Given the description of an element on the screen output the (x, y) to click on. 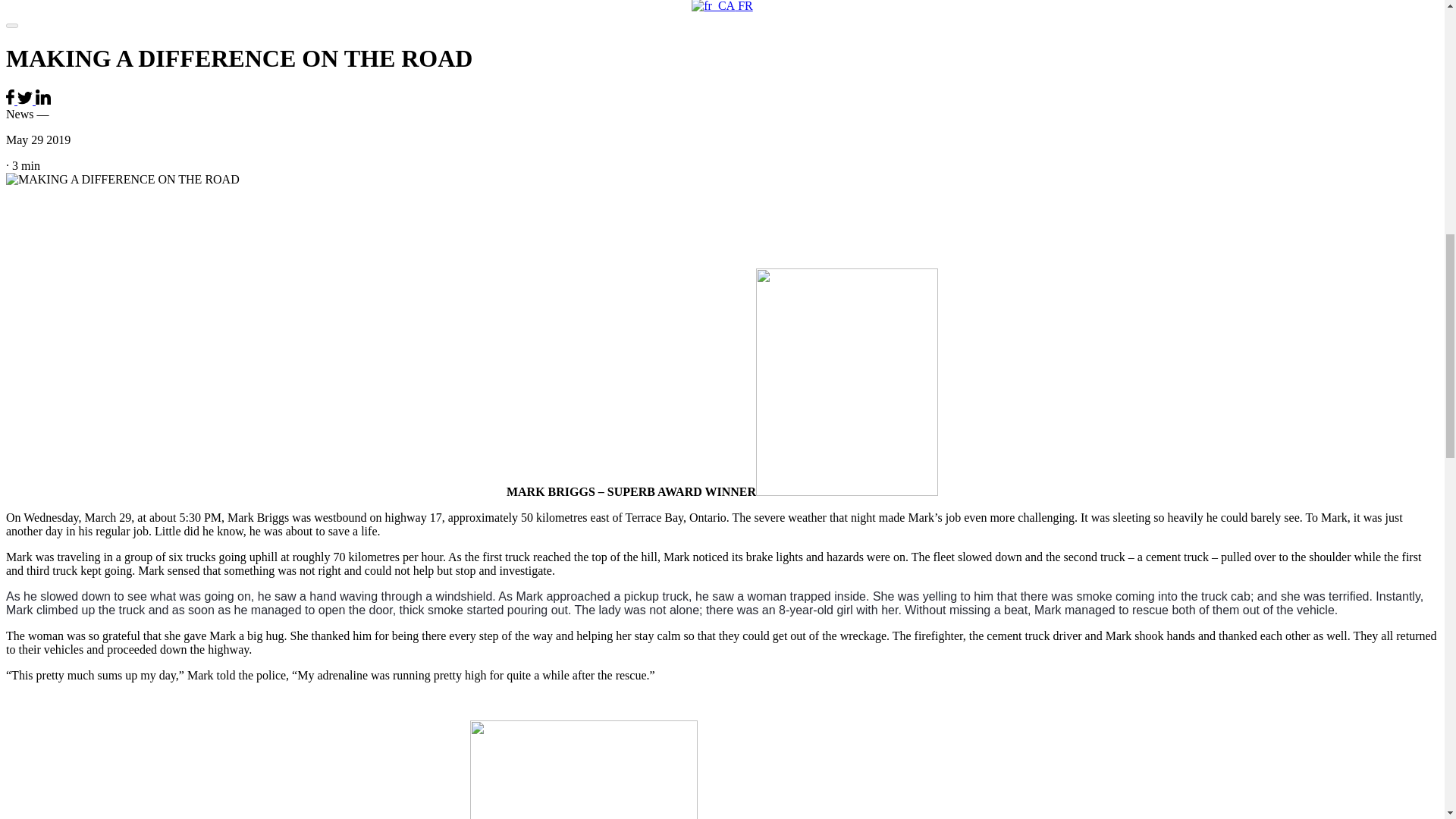
French (721, 0)
French (721, 9)
French (713, 6)
